Given the description of an element on the screen output the (x, y) to click on. 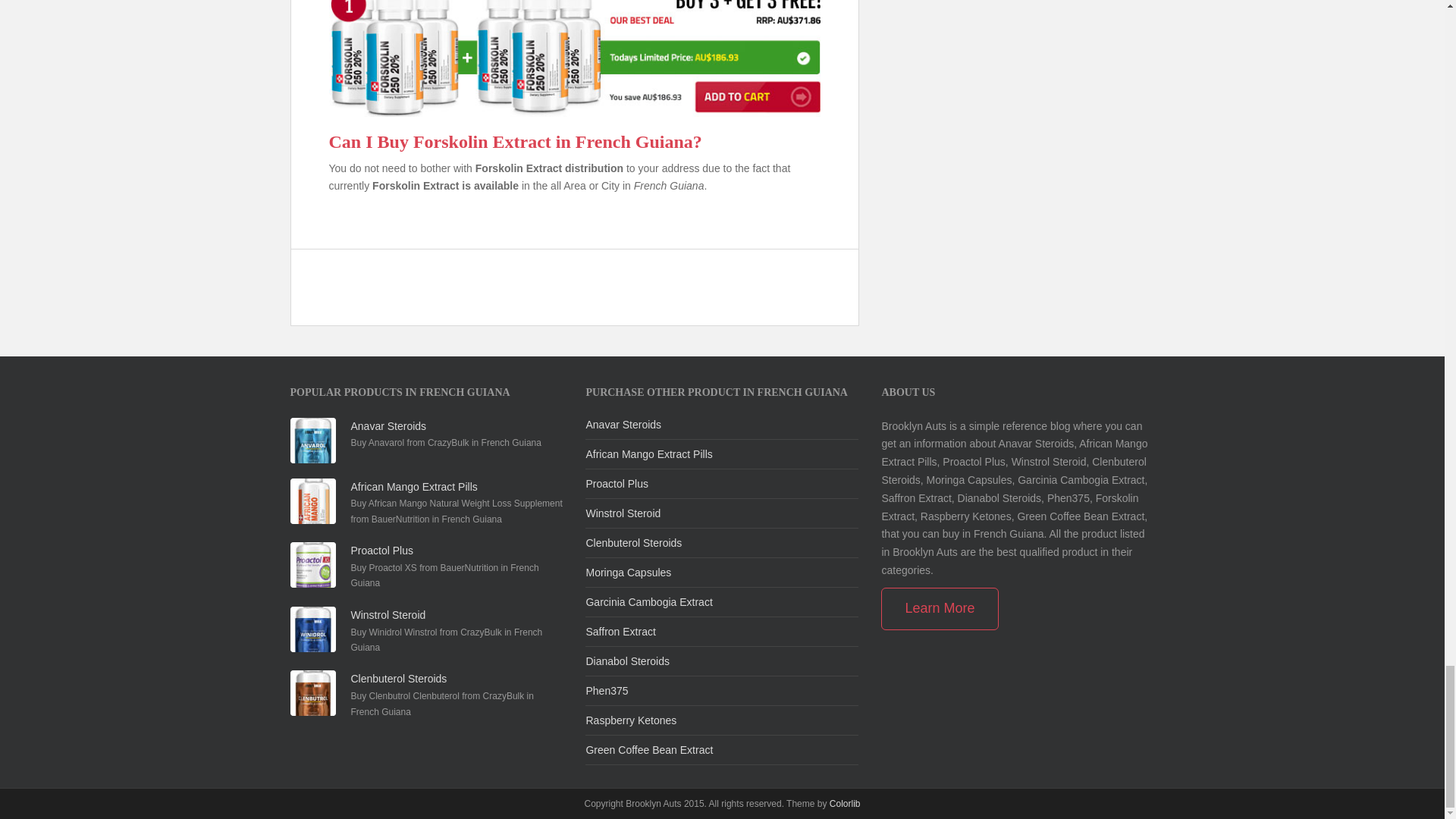
Raspberry Ketones (631, 720)
Dianabol Steroids (627, 661)
Winstrol Steroid (387, 614)
Clenbuterol Steroids (398, 678)
Saffron Extract (620, 631)
Moringa Capsules (628, 572)
Proactol Plus (616, 483)
Phen375 (606, 690)
Winstrol Steroid (623, 512)
Garcinia Cambogia Extract (648, 602)
Where to Buy anavar-steroids online French Guiana (623, 424)
Colorlib (844, 803)
Anavar Steroids (623, 424)
Anavar Steroids (388, 426)
African Mango Extract Pills (648, 453)
